Given the description of an element on the screen output the (x, y) to click on. 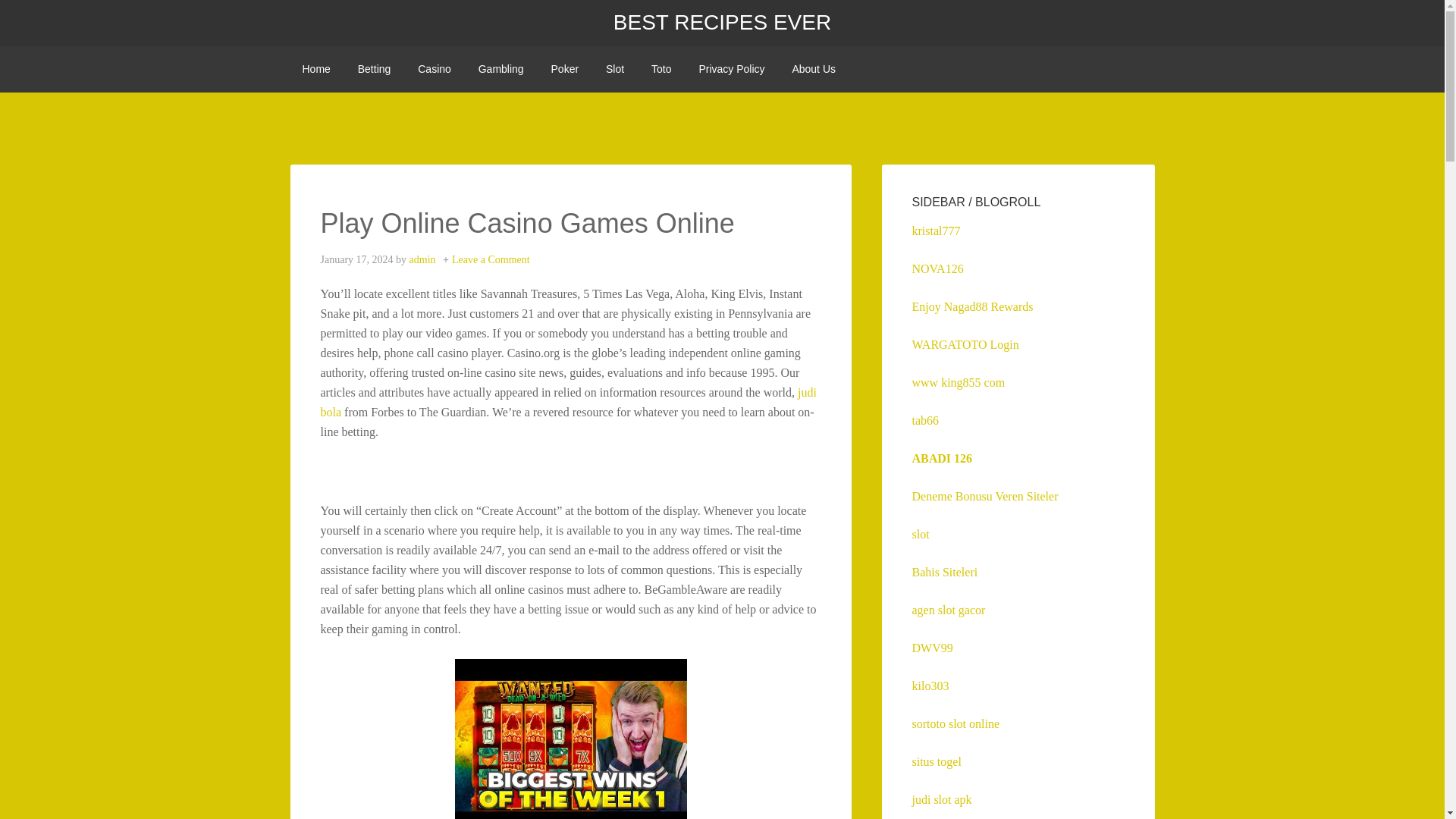
ABADI 126 (941, 458)
admin (422, 259)
agen slot gacor (948, 609)
kristal777 (935, 230)
About Us (812, 68)
www king855 com (957, 382)
Betting (374, 68)
Slot (615, 68)
Deneme Bonusu Veren Siteler (984, 495)
Gambling (500, 68)
